Given the description of an element on the screen output the (x, y) to click on. 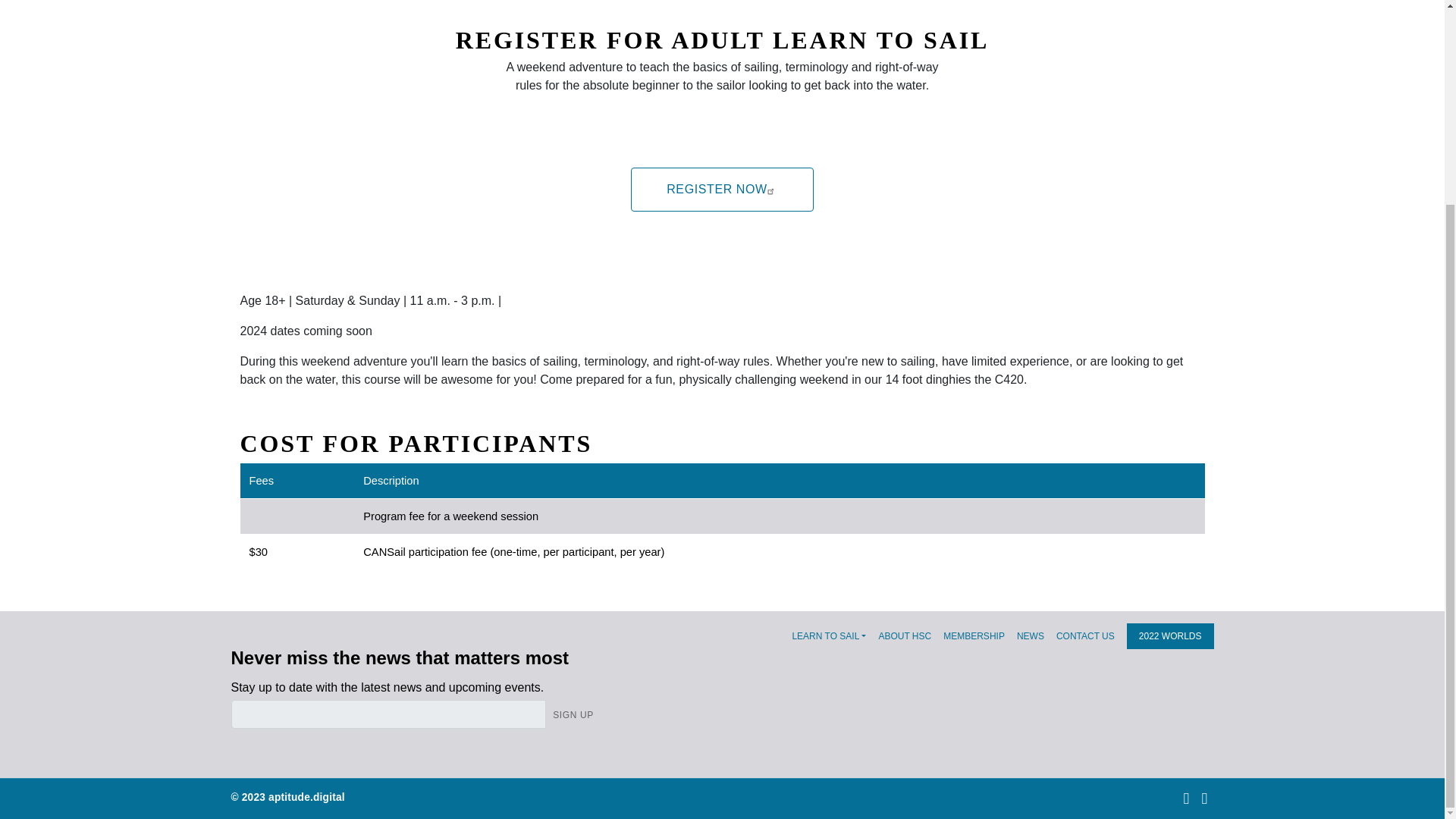
CONTACT US (1086, 636)
NEWS (1029, 636)
LEARN TO SAIL (829, 636)
MEMBERSHIP (973, 636)
SIGN UP (572, 714)
2022 WORLDS (1170, 636)
ABOUT HSC (904, 636)
